Given the description of an element on the screen output the (x, y) to click on. 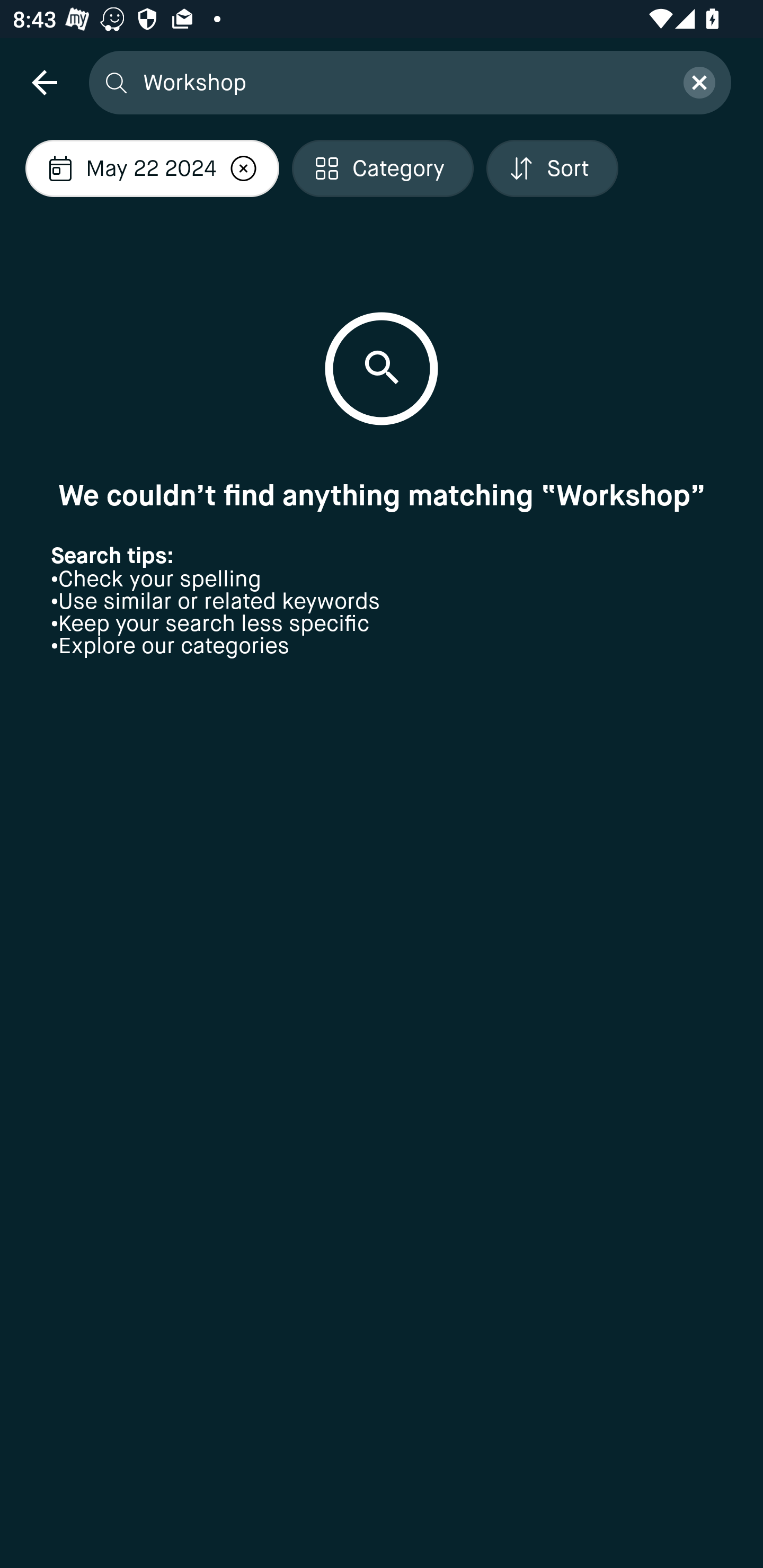
navigation icon (44, 81)
Workshop (402, 81)
Localized description (243, 168)
Localized description Category (382, 168)
Localized description Sort (552, 168)
We couldn’t find anything matching “Workshop” (381, 495)
